Given the description of an element on the screen output the (x, y) to click on. 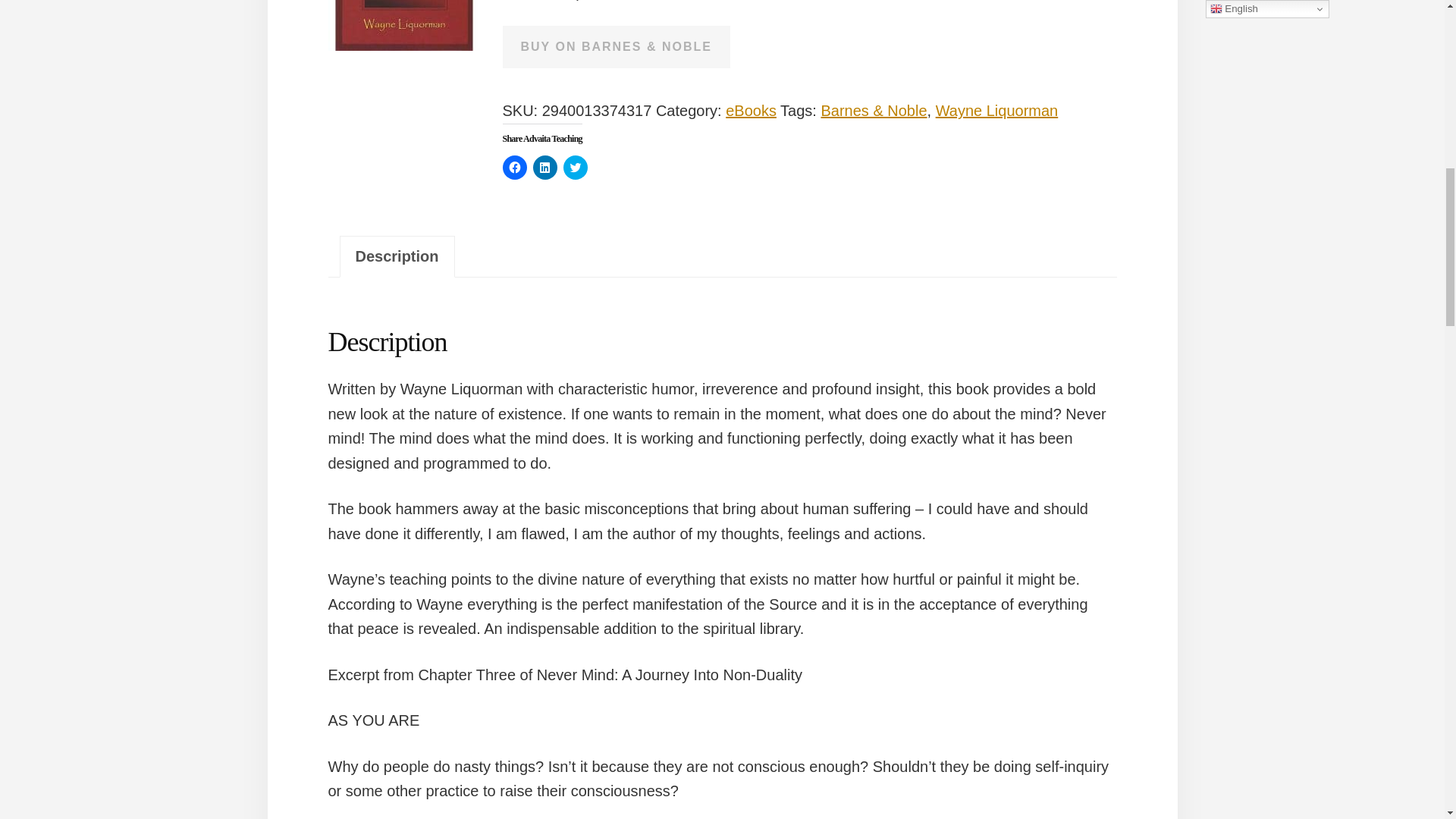
Description (395, 256)
eBooks (750, 110)
Wayne Liquorman (997, 110)
Click to share on LinkedIn (544, 167)
NeverMind (403, 25)
Click to share on Facebook (513, 167)
Click to share on Twitter (574, 167)
